Given the description of an element on the screen output the (x, y) to click on. 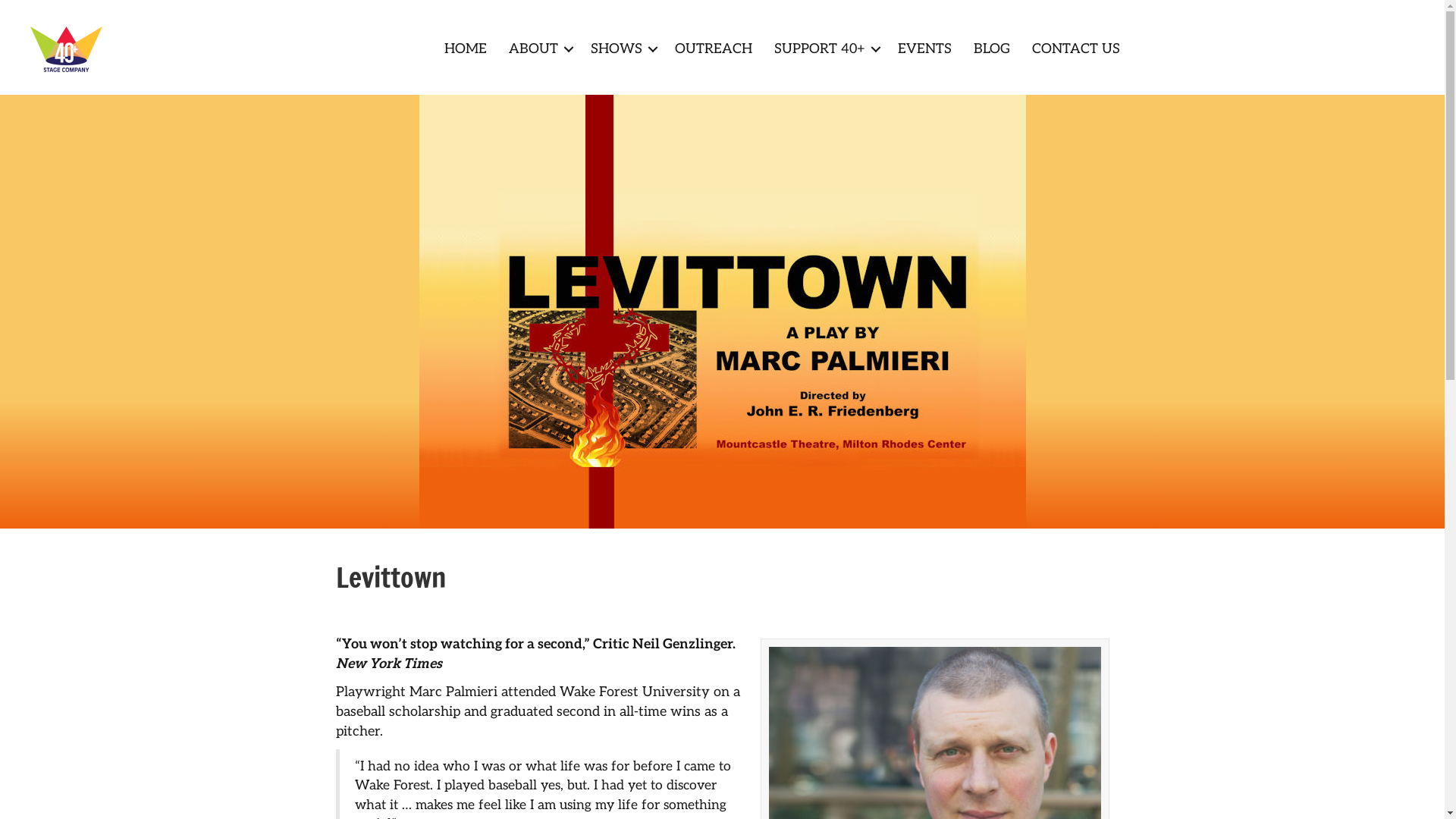
CONTACT US Element type: text (1075, 48)
ABOUT Element type: text (538, 48)
OUTREACH Element type: text (713, 48)
40plus-logo-home-mobile Element type: hover (66, 49)
SUPPORT 40+ Element type: text (824, 48)
HOME Element type: text (465, 48)
SHOWS Element type: text (621, 48)
BLOG Element type: text (991, 48)
EVENTS Element type: text (924, 48)
